Given the description of an element on the screen output the (x, y) to click on. 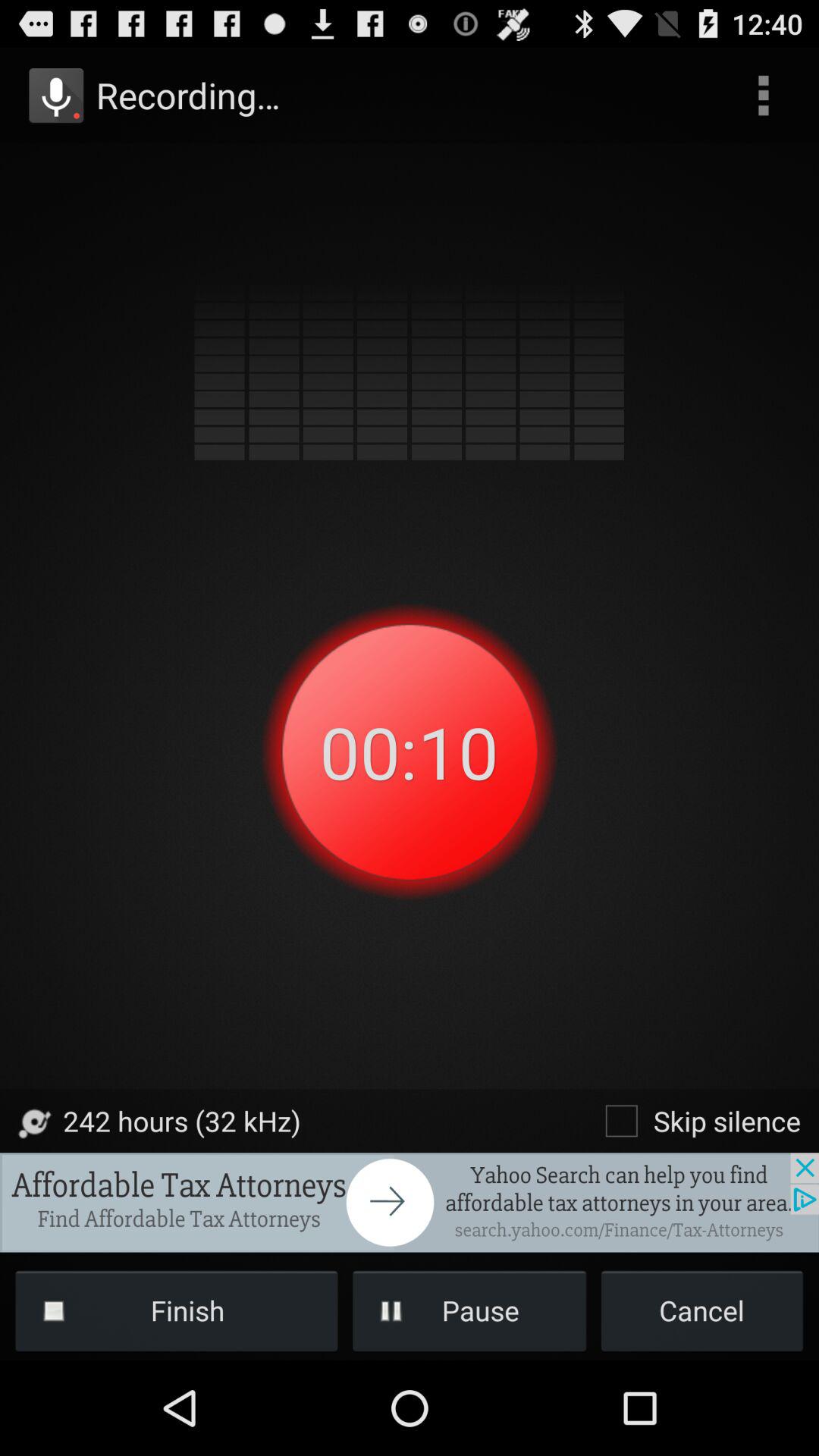
advertisements image (409, 1202)
